Given the description of an element on the screen output the (x, y) to click on. 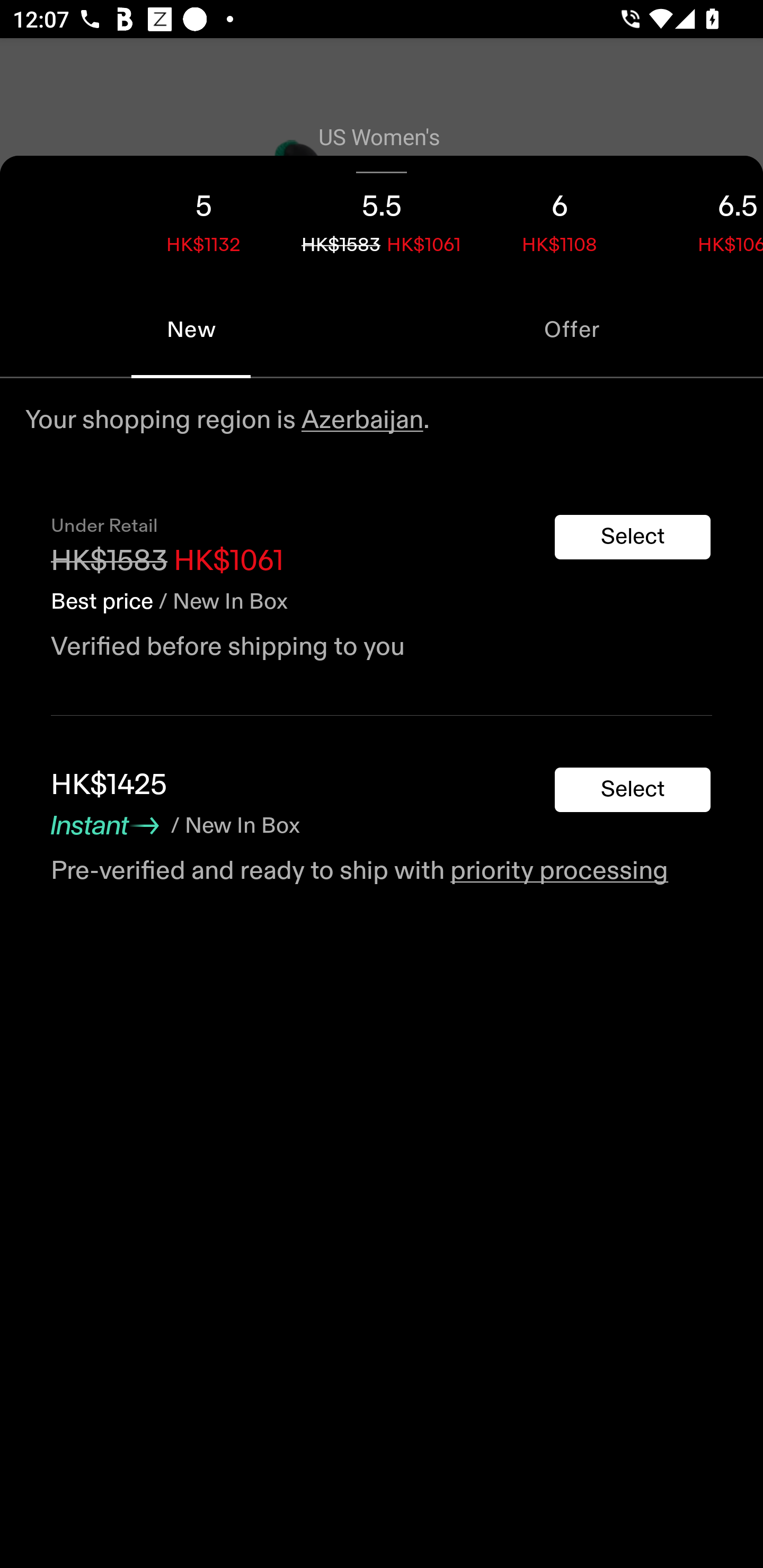
5 HK$1132 (203, 218)
5.5 HK$1583 HK$1061 (381, 218)
6 HK$1108 (559, 218)
6.5 HK$1068 (705, 218)
Offer (572, 329)
Select (632, 536)
HK$1425 (109, 785)
Select (632, 789)
